Given the description of an element on the screen output the (x, y) to click on. 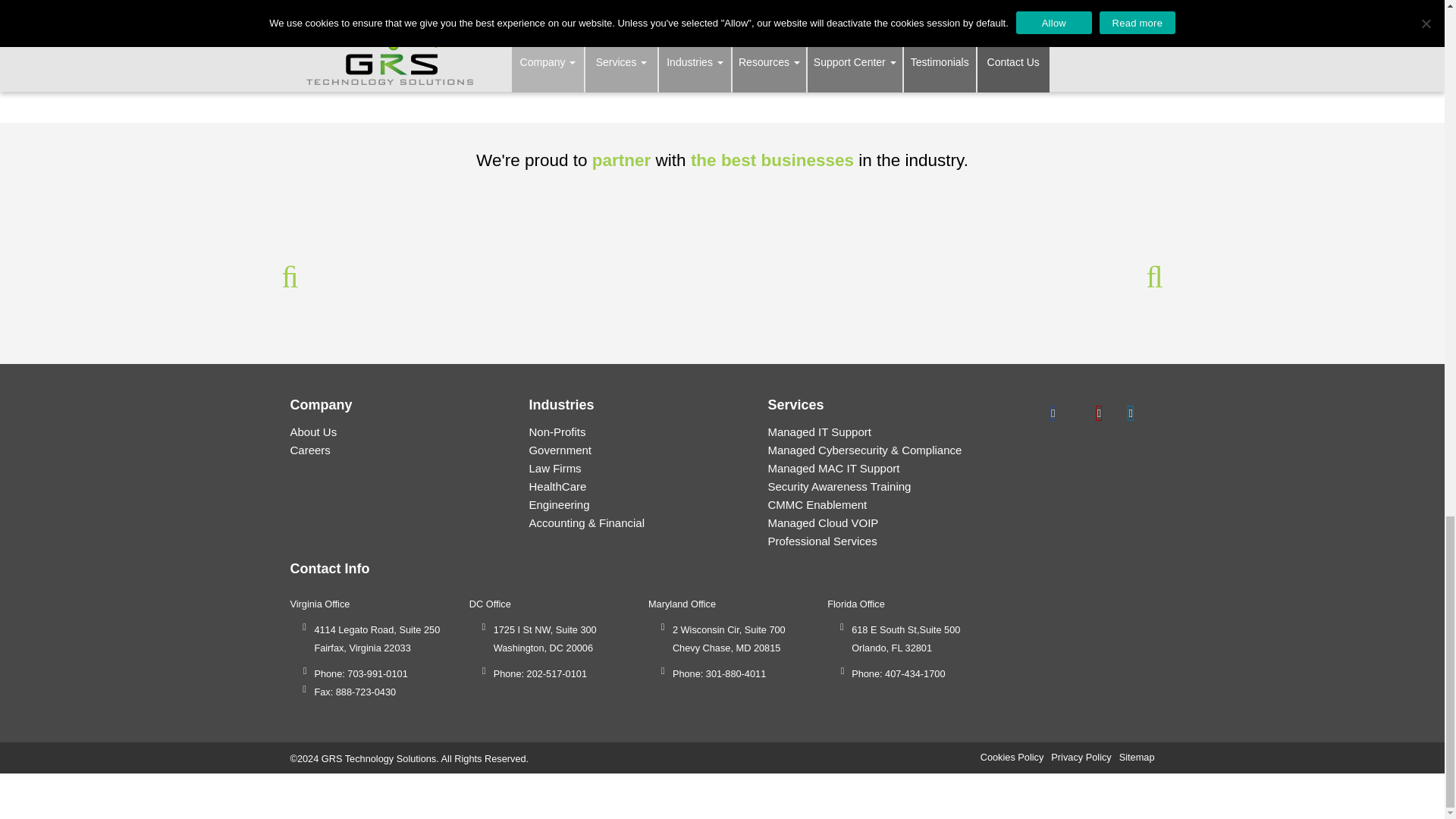
Find us on Youtube (1098, 411)
Privacy Policy (1080, 756)
Careers (309, 449)
Sitemap (1136, 756)
Follow us on Facebook (1053, 411)
Watch us on Youtube (1130, 411)
Law Firms (554, 468)
Non-Profits (556, 431)
Engineering (558, 504)
HealthCare (557, 486)
Government (559, 449)
About Us (312, 431)
